Given the description of an element on the screen output the (x, y) to click on. 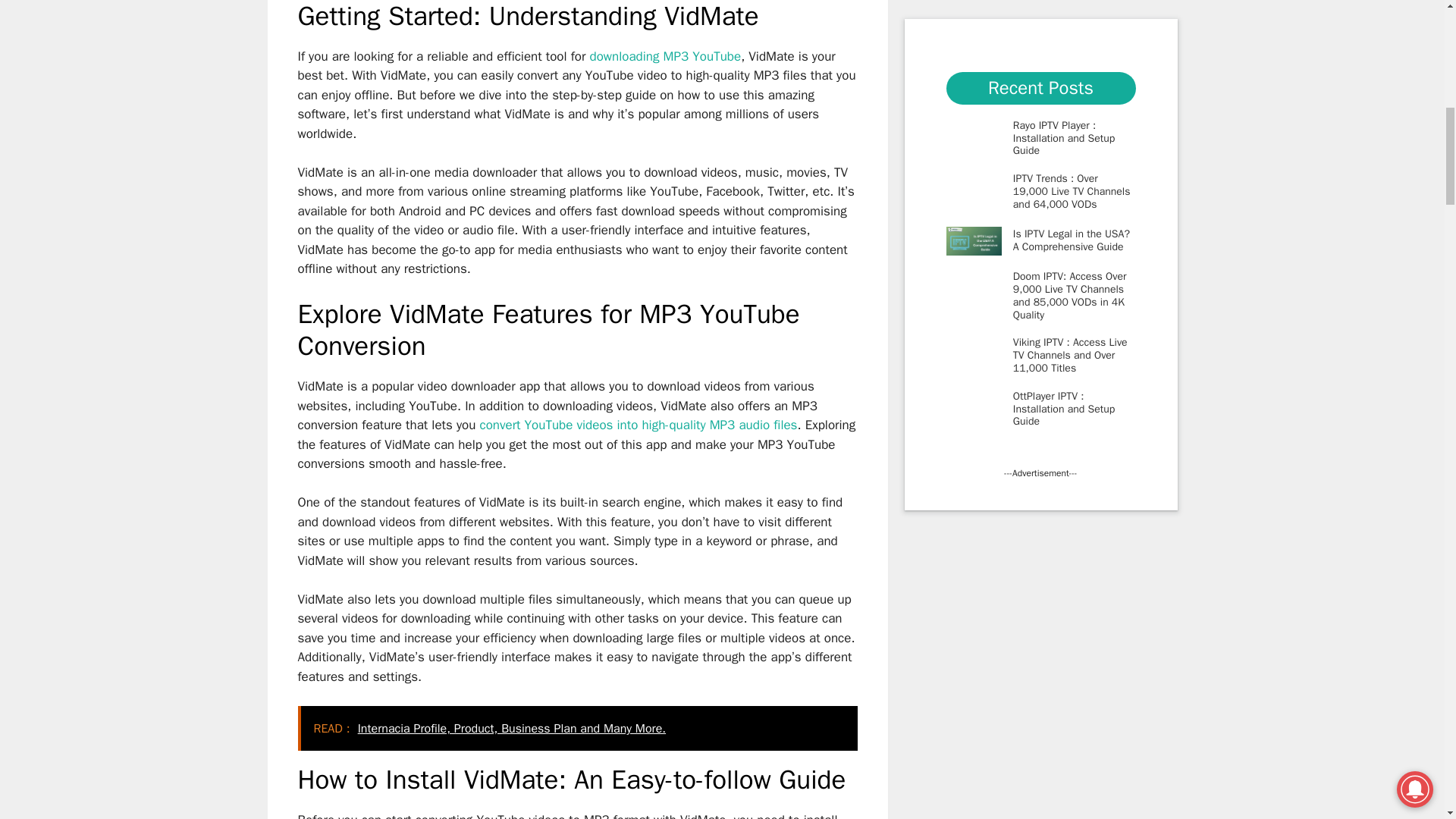
convert YouTube videos into high-quality MP3 audio files (638, 424)
downloading MP3 YouTube (665, 56)
